Given the description of an element on the screen output the (x, y) to click on. 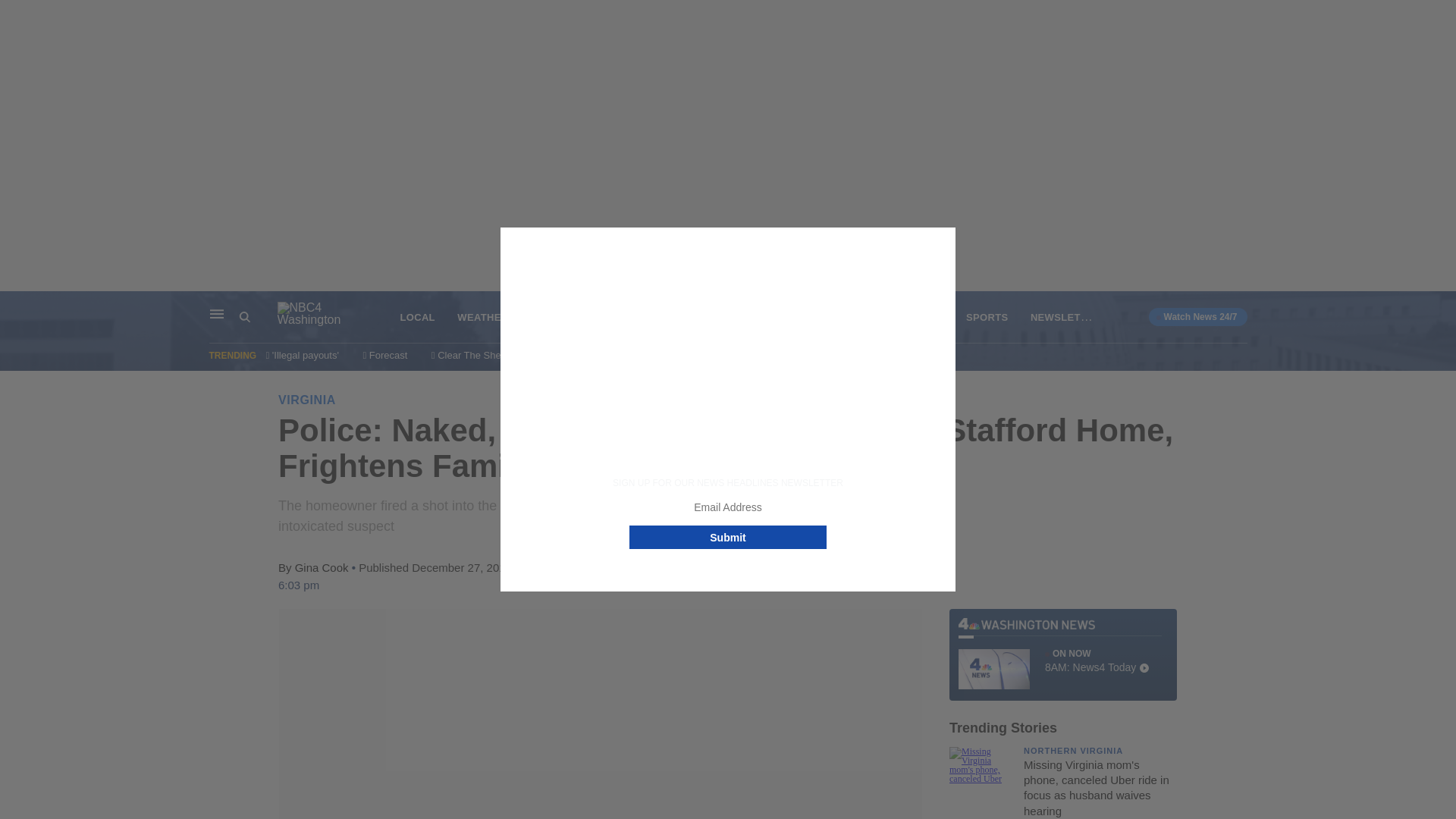
CONSUMER (805, 317)
Search (244, 316)
VIRGINIA (307, 399)
SPORTS (986, 317)
Main Navigation (216, 313)
Skip to content (16, 306)
NEWSLETTERS (1062, 654)
POLITICS (1069, 316)
